Given the description of an element on the screen output the (x, y) to click on. 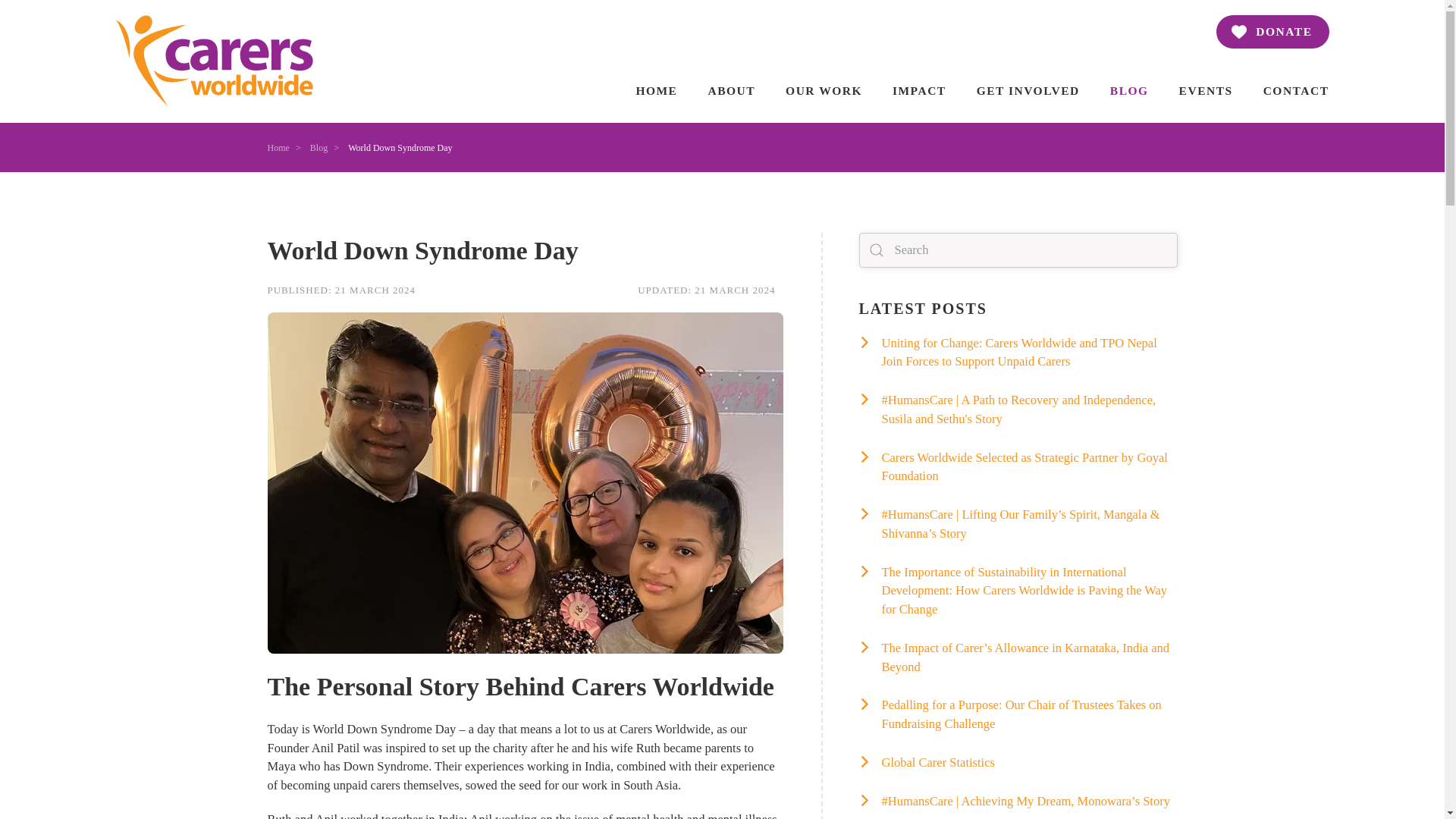
World Down Syndrome Day (524, 250)
DONATE (524, 290)
OUR WORK (1271, 31)
LATEST POSTS (823, 90)
ABOUT (1017, 308)
HOME (731, 90)
IMPACT (655, 90)
